Given the description of an element on the screen output the (x, y) to click on. 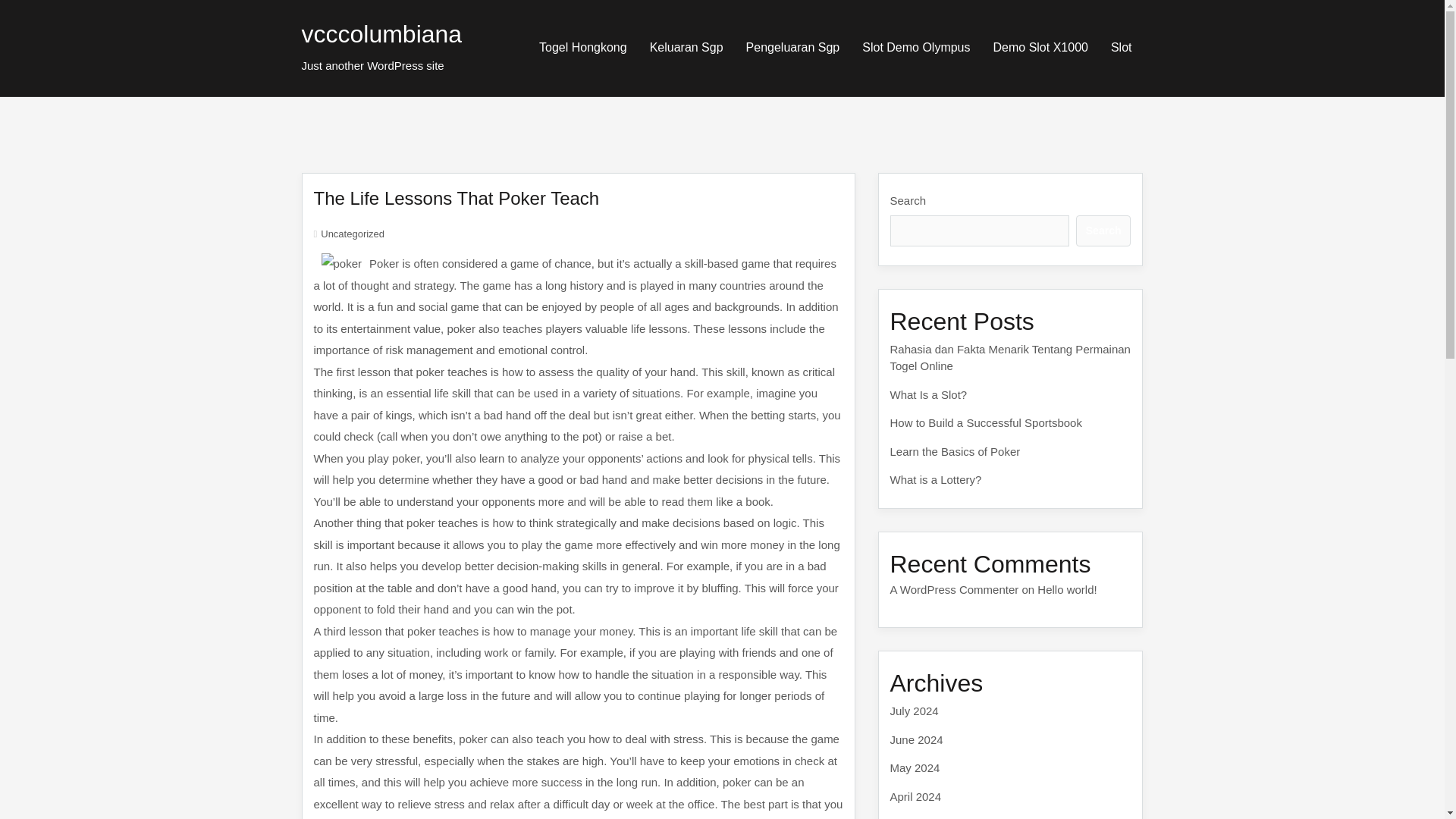
Slot Demo Olympus (915, 47)
togel hongkong (583, 47)
demo slot x1000 (1040, 47)
What is a Lottery? (935, 479)
vcccolumbiana (382, 33)
Uncategorized (352, 233)
April 2024 (915, 796)
March 2024 (919, 818)
Rahasia dan Fakta Menarik Tentang Permainan Togel Online (1010, 358)
How to Build a Successful Sportsbook (985, 422)
June 2024 (916, 738)
slot (1120, 47)
slot demo olympus (915, 47)
Slot (1120, 47)
Pengeluaran Sgp (793, 47)
